Given the description of an element on the screen output the (x, y) to click on. 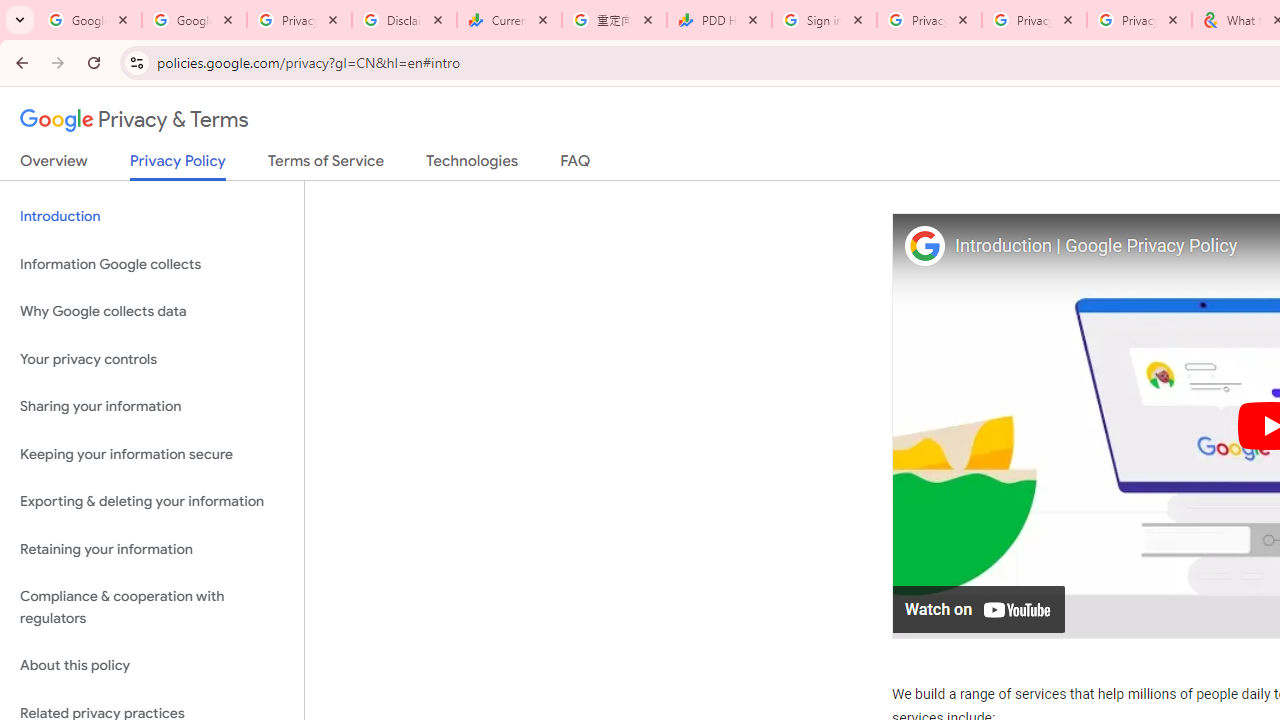
Photo image of Google (924, 244)
About this policy (152, 666)
Privacy & Terms (134, 120)
Why Google collects data (152, 312)
